Given the description of an element on the screen output the (x, y) to click on. 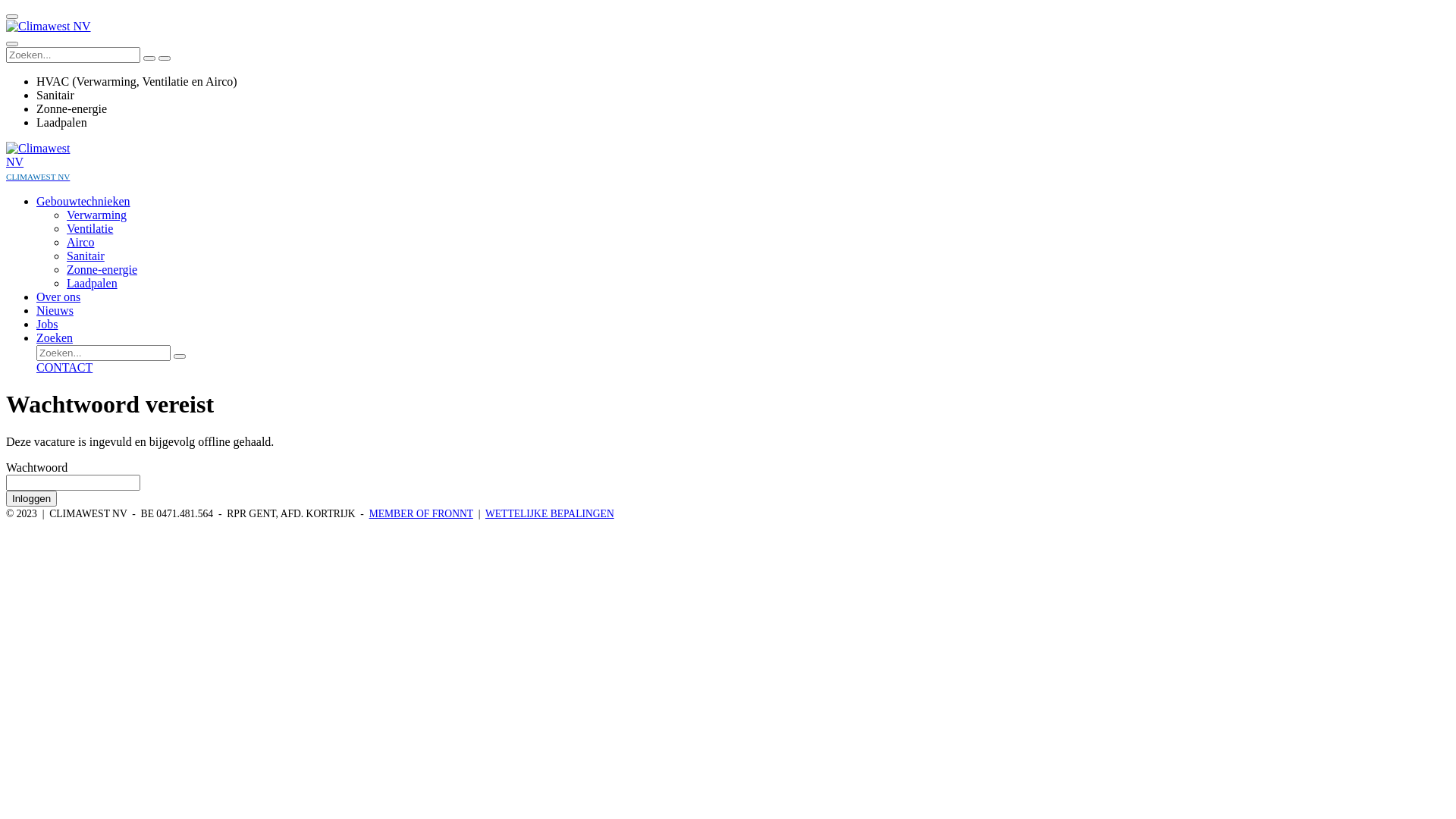
Climawest NV Element type: hover (44, 155)
CLIMAWEST NV Element type: text (37, 175)
Climawest NV Element type: hover (48, 26)
Nieuws Element type: text (54, 310)
Airco Element type: text (80, 241)
Laadpalen Element type: text (91, 282)
Zonne-energie Element type: text (101, 269)
MEMBER OF FRONNT Element type: text (421, 513)
Verwarming Element type: text (96, 214)
Inloggen Element type: text (31, 498)
CONTACT Element type: text (742, 367)
Zoeken Element type: text (54, 337)
Gebouwtechnieken Element type: text (83, 200)
Sanitair Element type: text (85, 255)
Over ons Element type: text (58, 296)
WETTELIJKE BEPALINGEN Element type: text (549, 513)
Jobs Element type: text (46, 323)
Ventilatie Element type: text (89, 228)
